Given the description of an element on the screen output the (x, y) to click on. 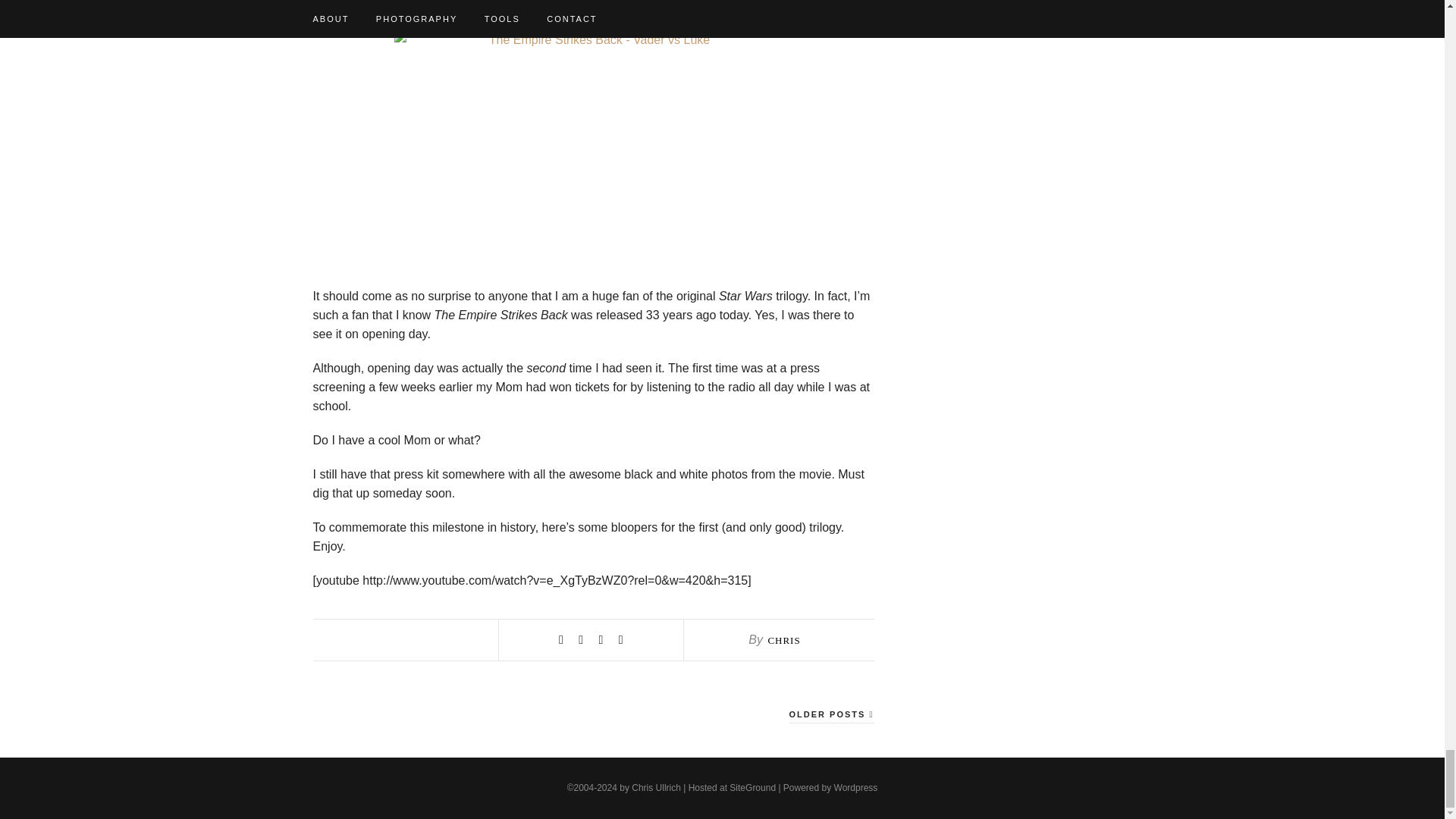
Posts by Chris (783, 640)
